Given the description of an element on the screen output the (x, y) to click on. 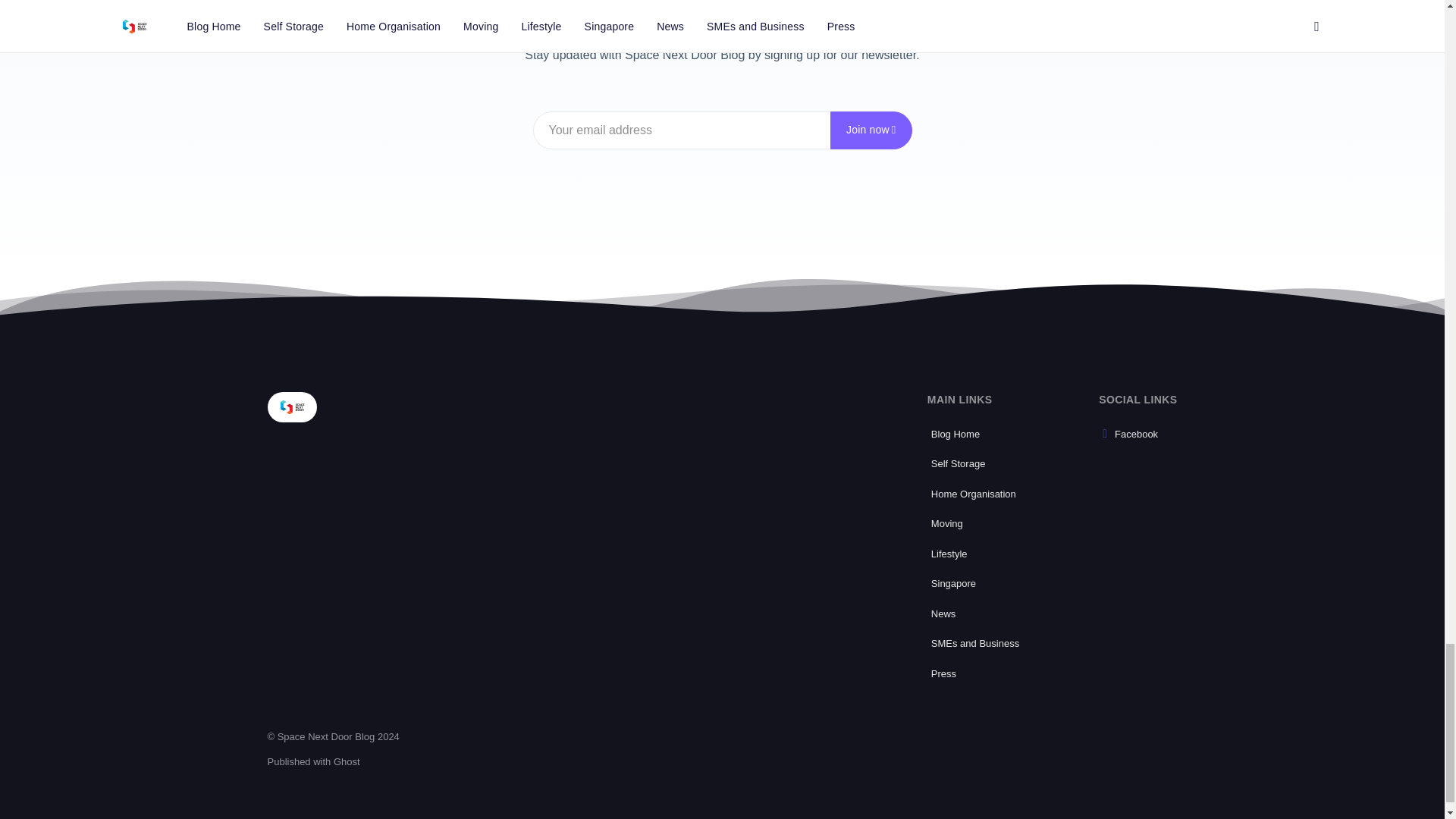
Space Next Door Blog (291, 406)
